Given the description of an element on the screen output the (x, y) to click on. 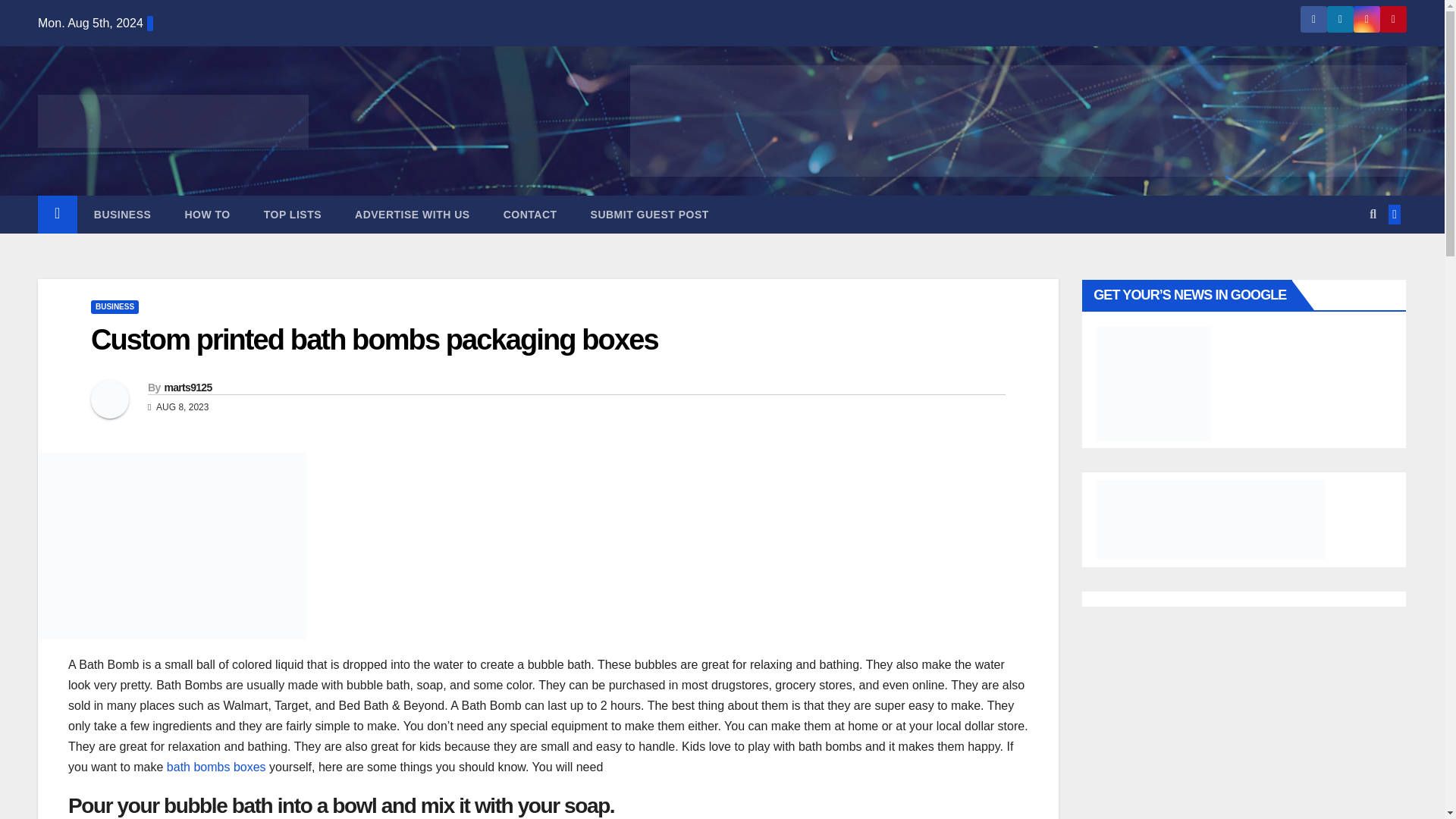
BUSINESS (122, 214)
TOP LISTS (292, 214)
How to (206, 214)
HOW TO (206, 214)
Business (122, 214)
